Given the description of an element on the screen output the (x, y) to click on. 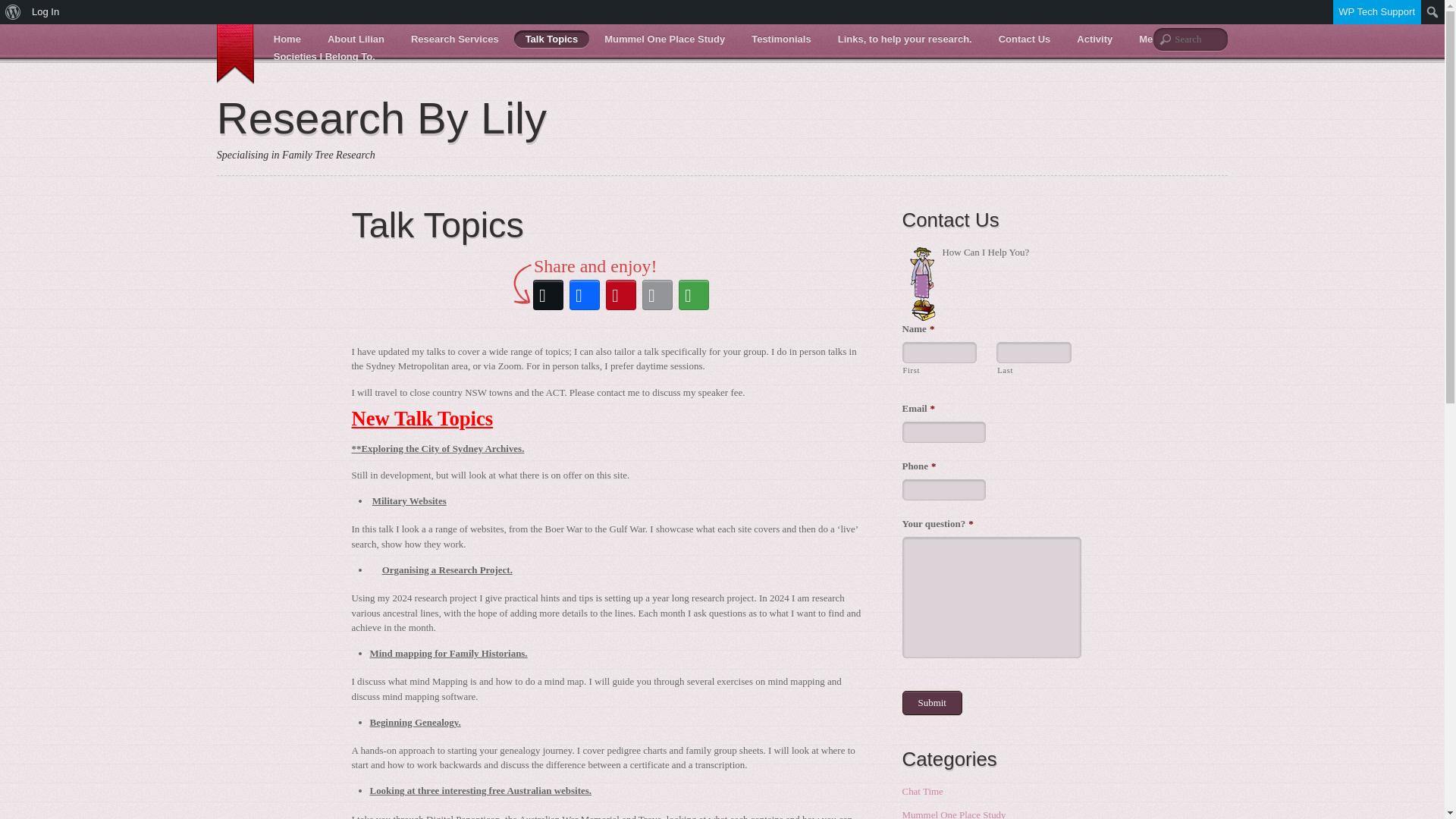
Email This (657, 294)
Contact Us (1024, 38)
More Options (693, 294)
Members (1159, 38)
Activity (1094, 38)
Facebook (584, 294)
Talk Topics (551, 38)
Submit (932, 702)
Testimonials (780, 38)
About Lilian (355, 38)
Submit (932, 702)
Pinterest (620, 294)
Chat Time (922, 790)
Links, to help your research. (905, 38)
Research By Lily (381, 117)
